Given the description of an element on the screen output the (x, y) to click on. 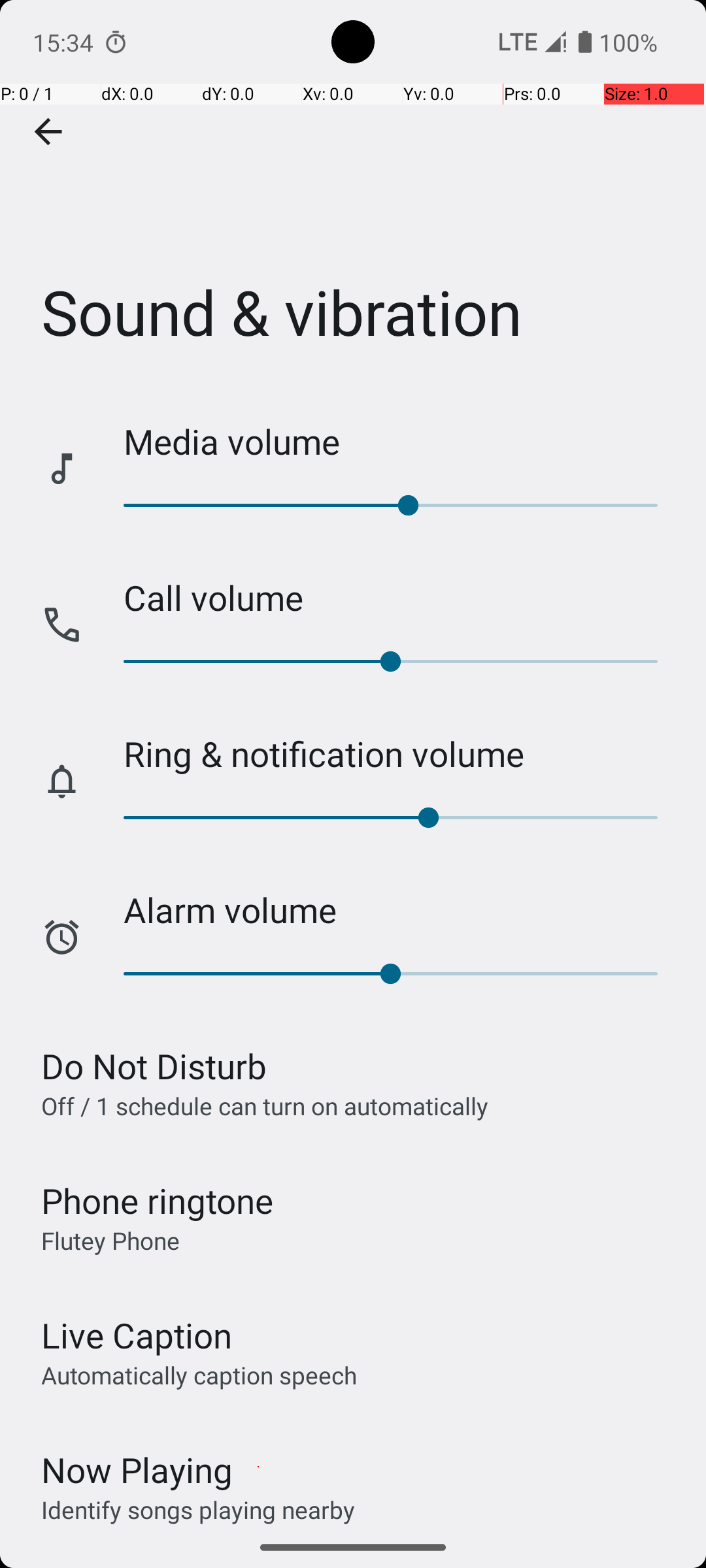
Off / 1 schedule can turn on automatically Element type: android.widget.TextView (264, 1105)
Now Playing Element type: android.widget.TextView (136, 1469)
Identify songs playing nearby Element type: android.widget.TextView (197, 1509)
